Given the description of an element on the screen output the (x, y) to click on. 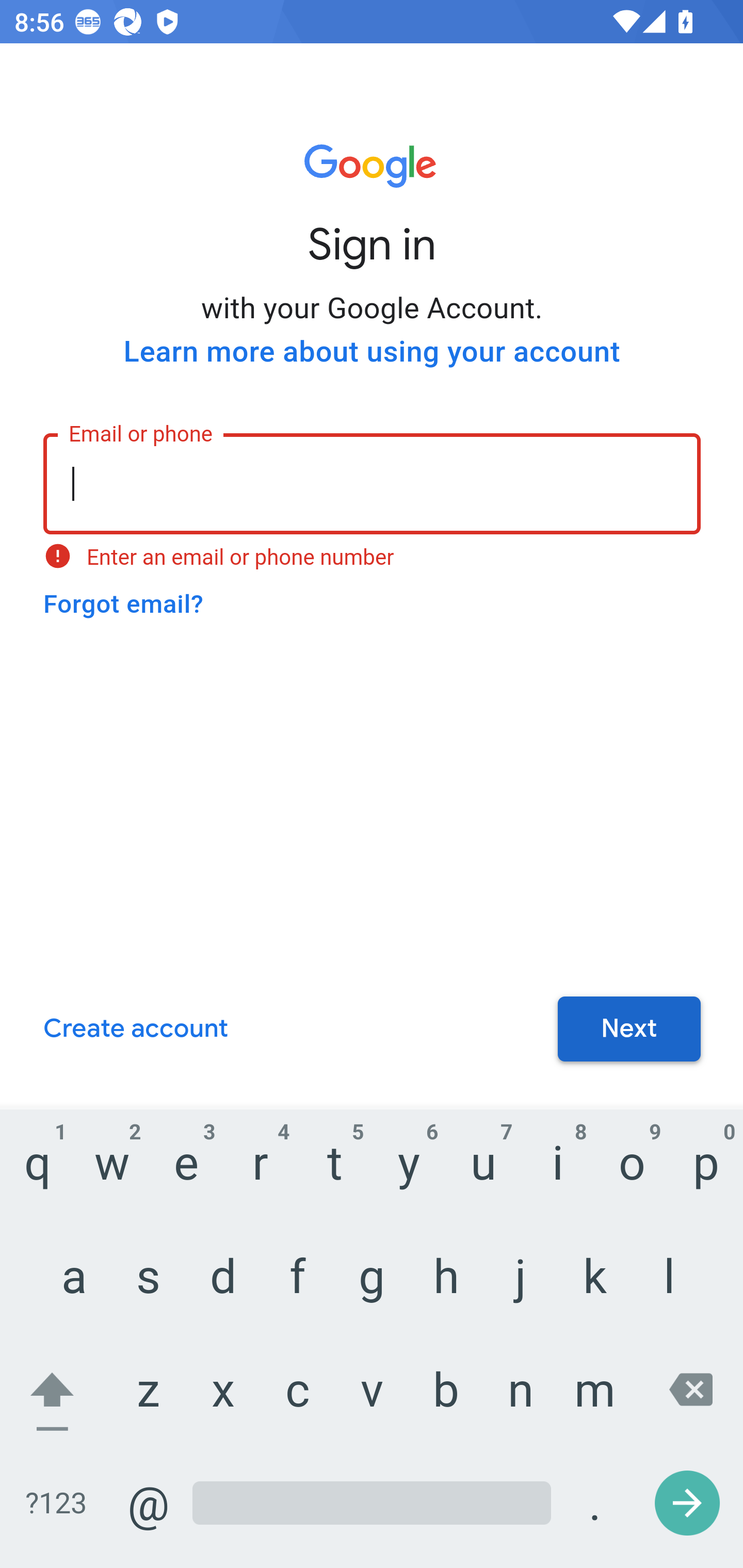
Learn more about using your account (371, 351)
Forgot email? (123, 604)
Create account (134, 1029)
Next (629, 1029)
